Given the description of an element on the screen output the (x, y) to click on. 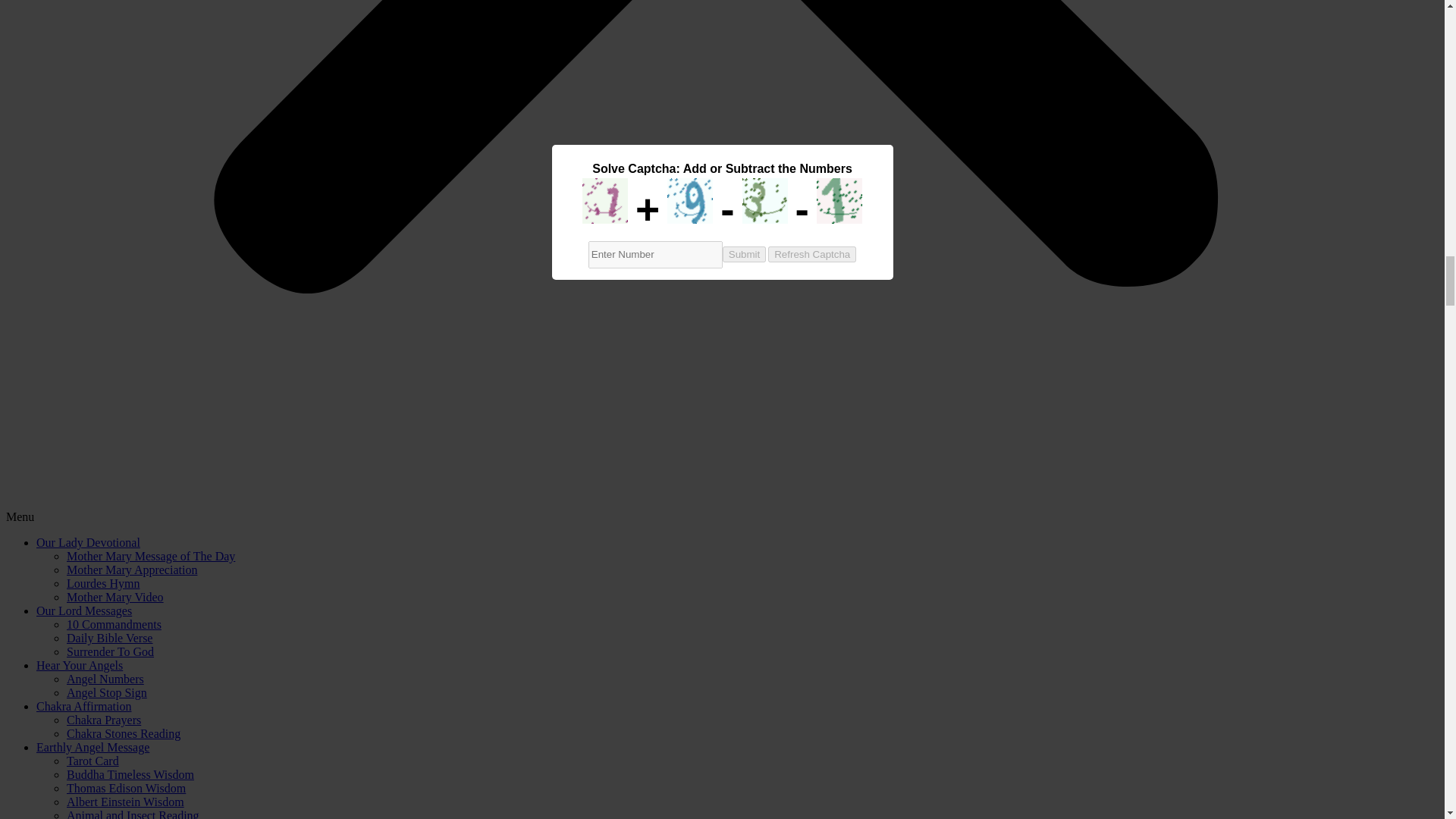
Our Lord Messages (84, 610)
10 Commandments (113, 624)
Lourdes Hymn (102, 583)
Our Lady Devotional (87, 542)
Mother Mary Message of The Day (150, 555)
Mother Mary Appreciation (131, 569)
Daily Bible Verse (109, 637)
Surrender To God (110, 651)
Mother Mary Video (114, 596)
